Given the description of an element on the screen output the (x, y) to click on. 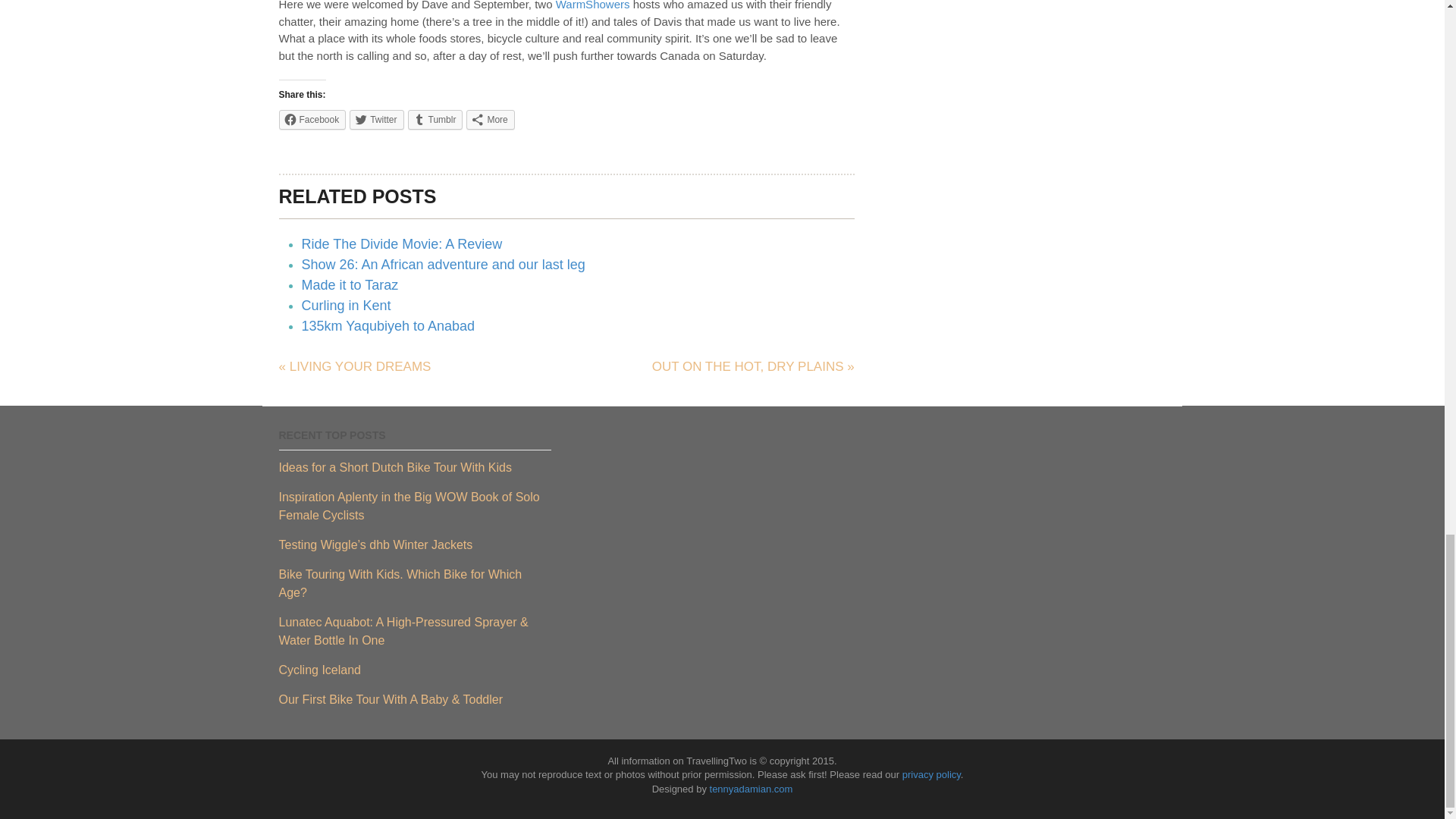
Curling in Kent (346, 305)
Ride The Divide Movie: A Review (401, 243)
Click to share on Tumblr (435, 119)
Twitter (376, 119)
Facebook (312, 119)
135km Yaqubiyeh to Anabad (388, 325)
More (489, 119)
Click to share on Facebook (312, 119)
Show 26: An African adventure and our last leg (443, 264)
WarmShowers (593, 5)
Made it to Taraz (349, 284)
Tumblr (435, 119)
Click to share on Twitter (376, 119)
